Given the description of an element on the screen output the (x, y) to click on. 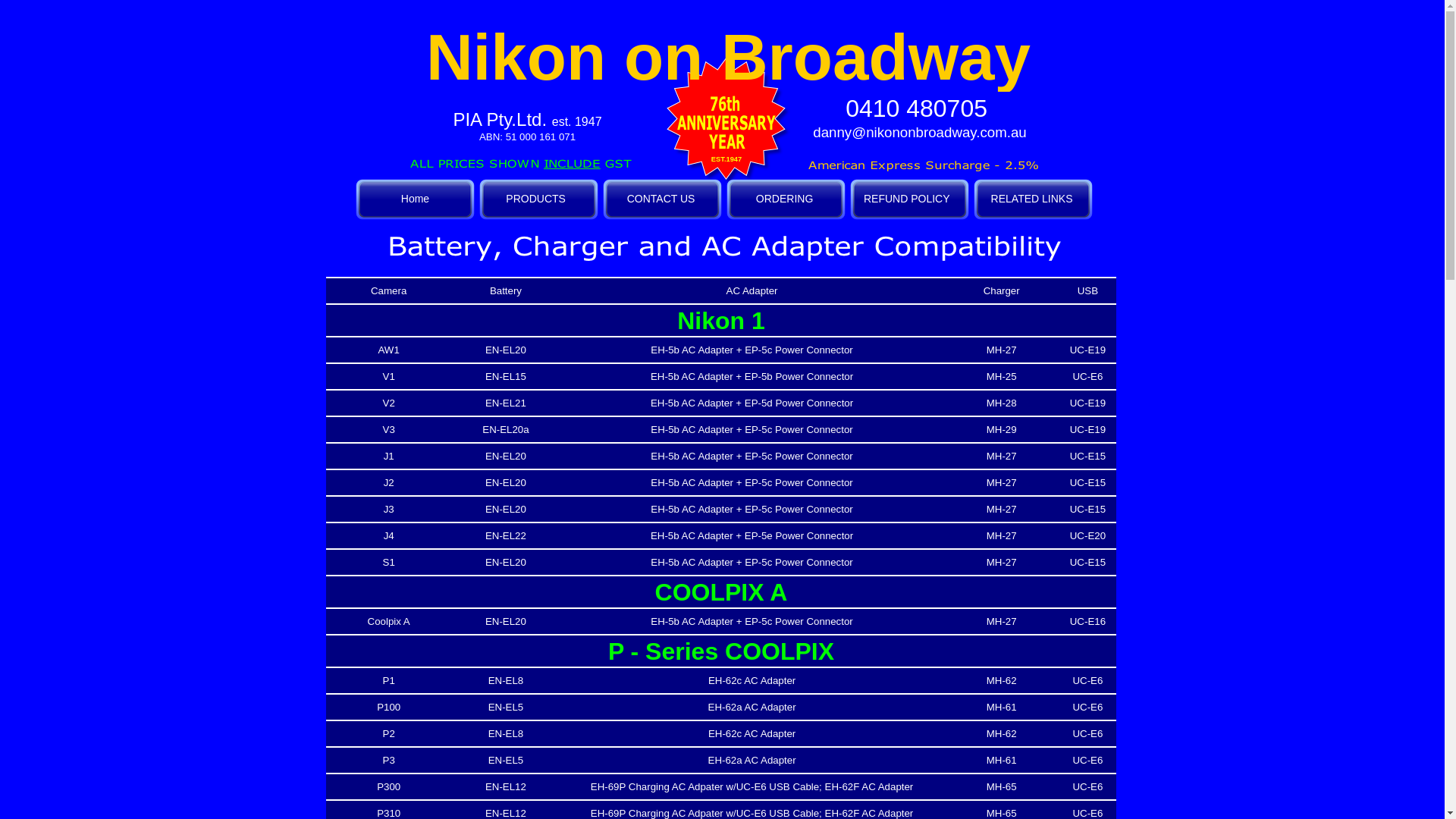
ORDERING  Element type: text (785, 199)
CONTACT US  Element type: text (662, 199)
RELATED LINKS  Element type: text (1033, 199)
PRODUCTS   Element type: text (538, 199)
REFUND POLICY   Element type: text (909, 199)
Home Element type: text (414, 199)
